Given the description of an element on the screen output the (x, y) to click on. 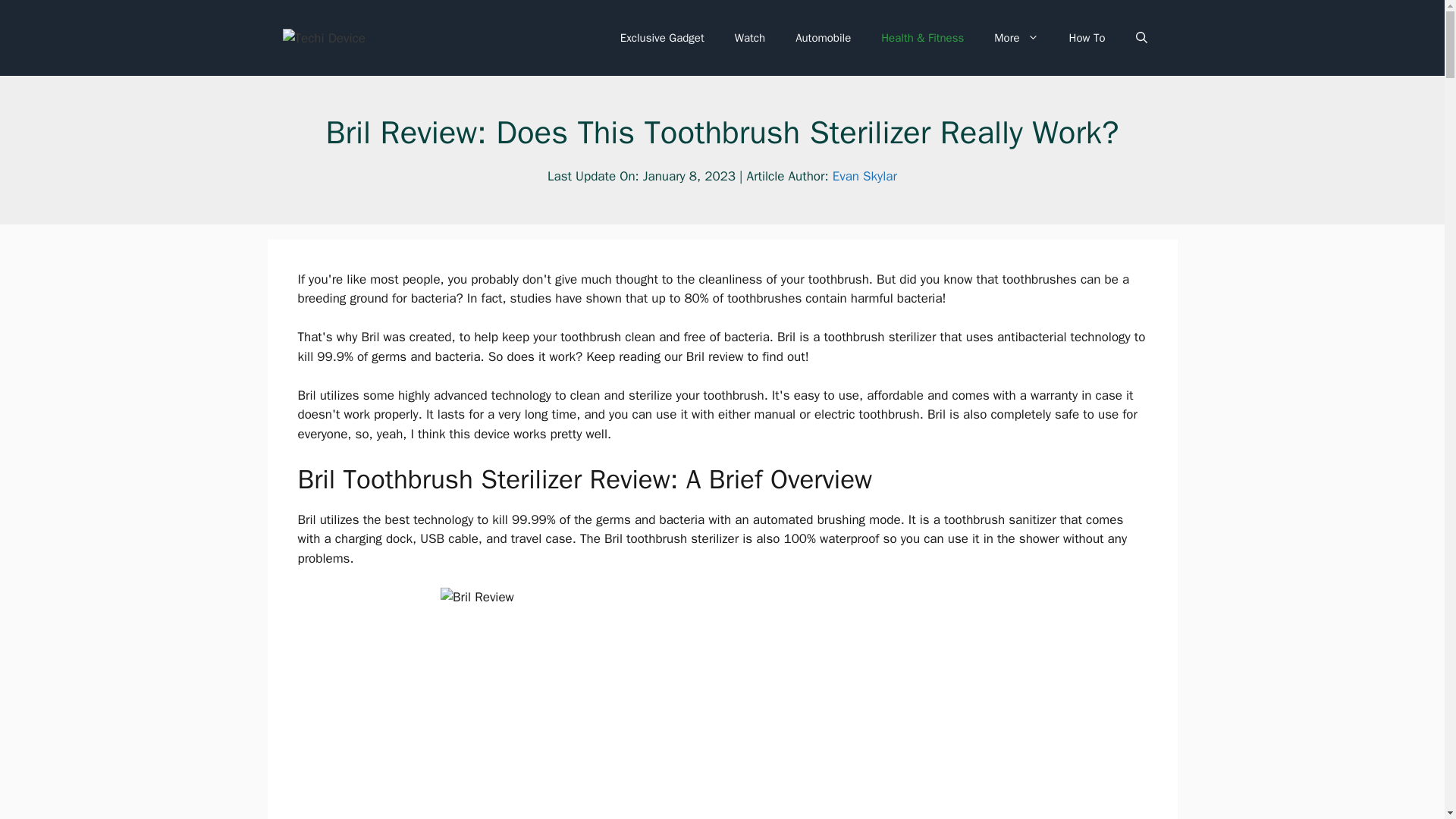
Watch (749, 37)
View all posts by Evan Skylar (864, 176)
How To (1087, 37)
More (1015, 37)
Evan Skylar (864, 176)
Automobile (823, 37)
Exclusive Gadget (662, 37)
